Given the description of an element on the screen output the (x, y) to click on. 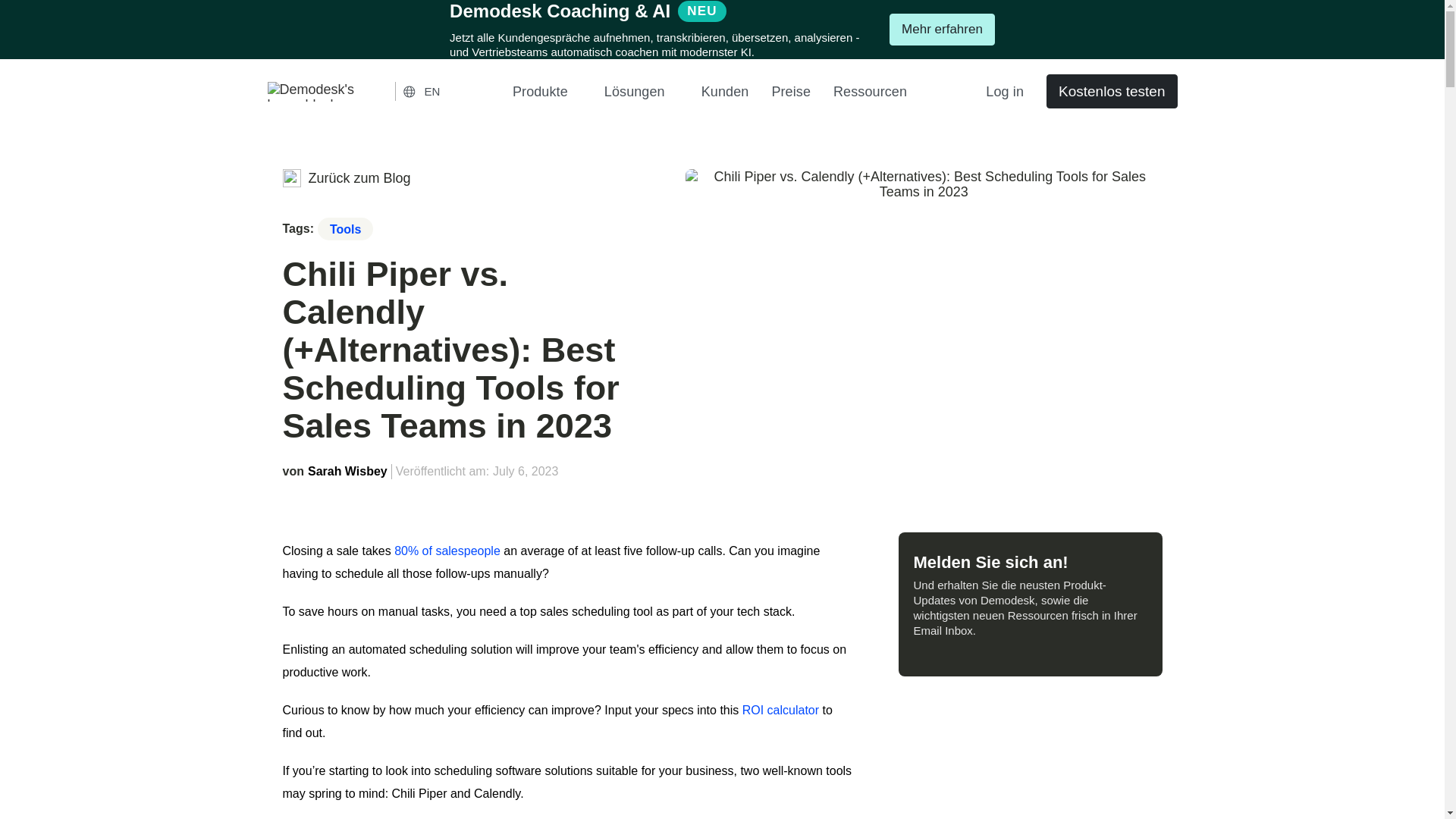
Kunden (725, 90)
Log in (1012, 90)
Mehr erfahren (941, 29)
Kostenlos testen (1111, 91)
Preise (791, 90)
